Given the description of an element on the screen output the (x, y) to click on. 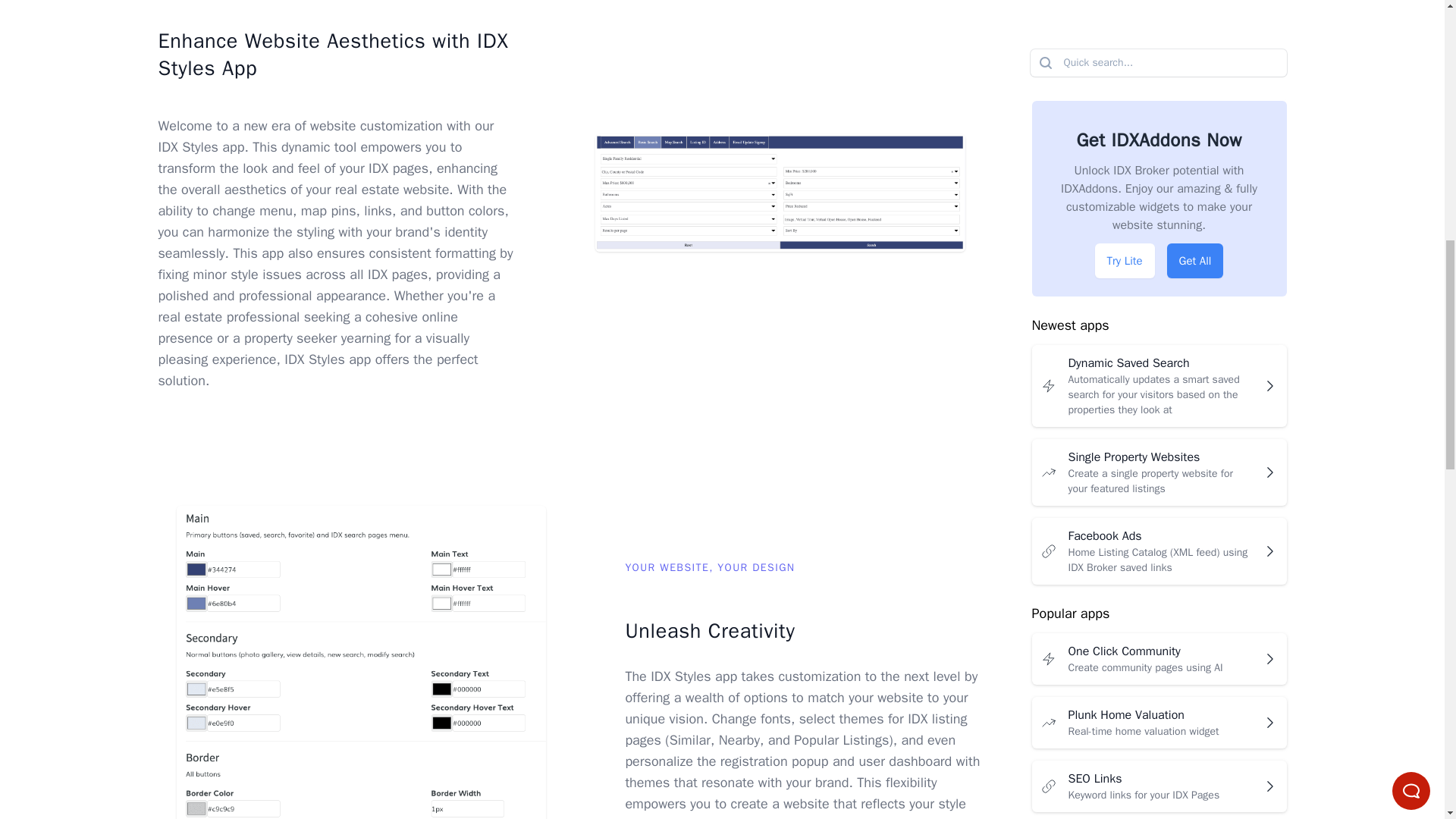
All Widgets (1157, 76)
IDX Styles About (1157, 21)
IDX Styles example (780, 192)
All Templates (361, 662)
